Given the description of an element on the screen output the (x, y) to click on. 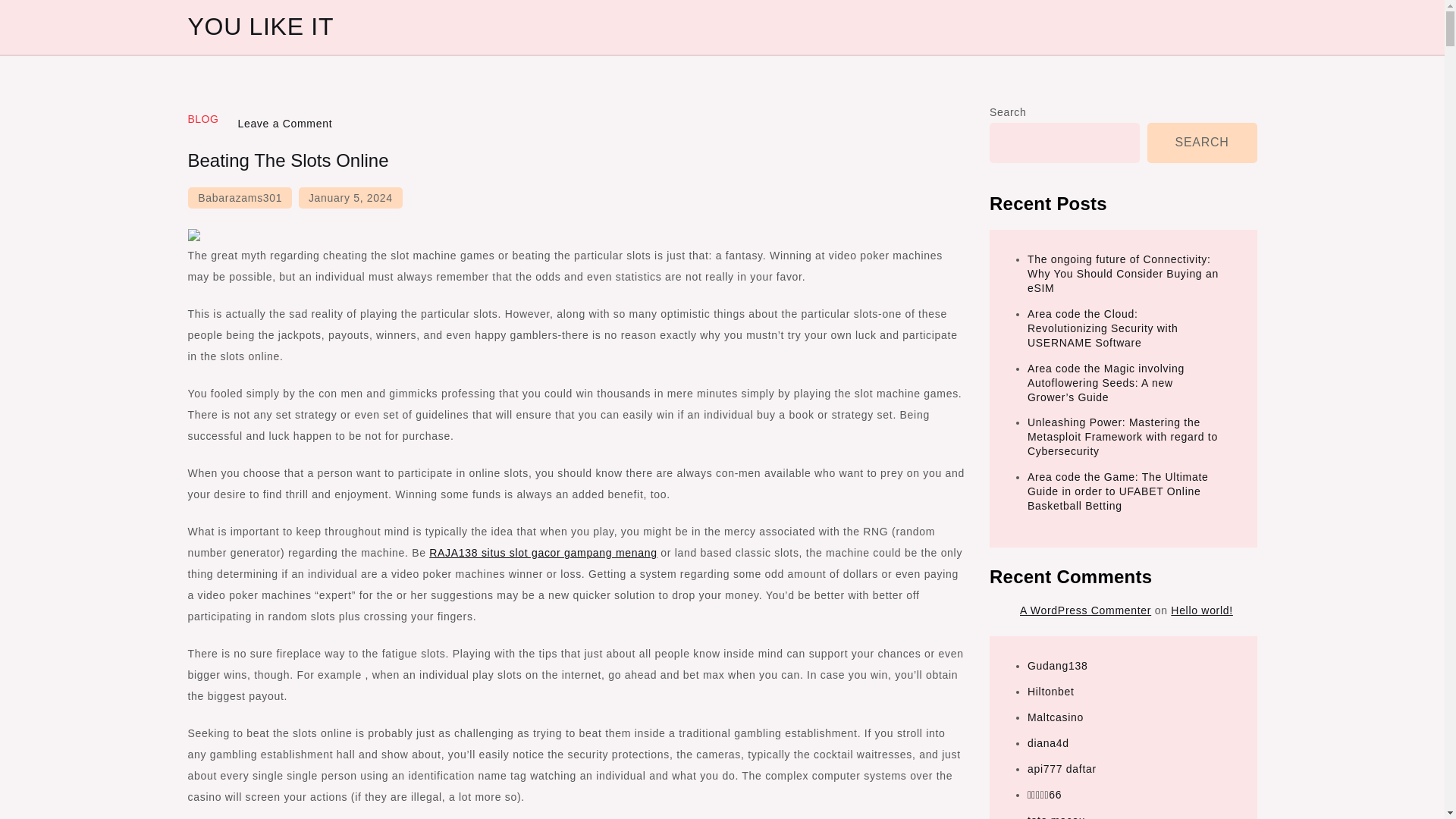
Babarazams301 (239, 197)
YOU LIKE IT (260, 26)
January 5, 2024 (350, 197)
Hiltonbet (1050, 691)
api777 daftar (1061, 768)
BLOG (203, 119)
toto macau (1055, 816)
SEARCH (1202, 142)
A WordPress Commenter (1085, 610)
RAJA138 situs slot gacor gampang menang (542, 552)
